Given the description of an element on the screen output the (x, y) to click on. 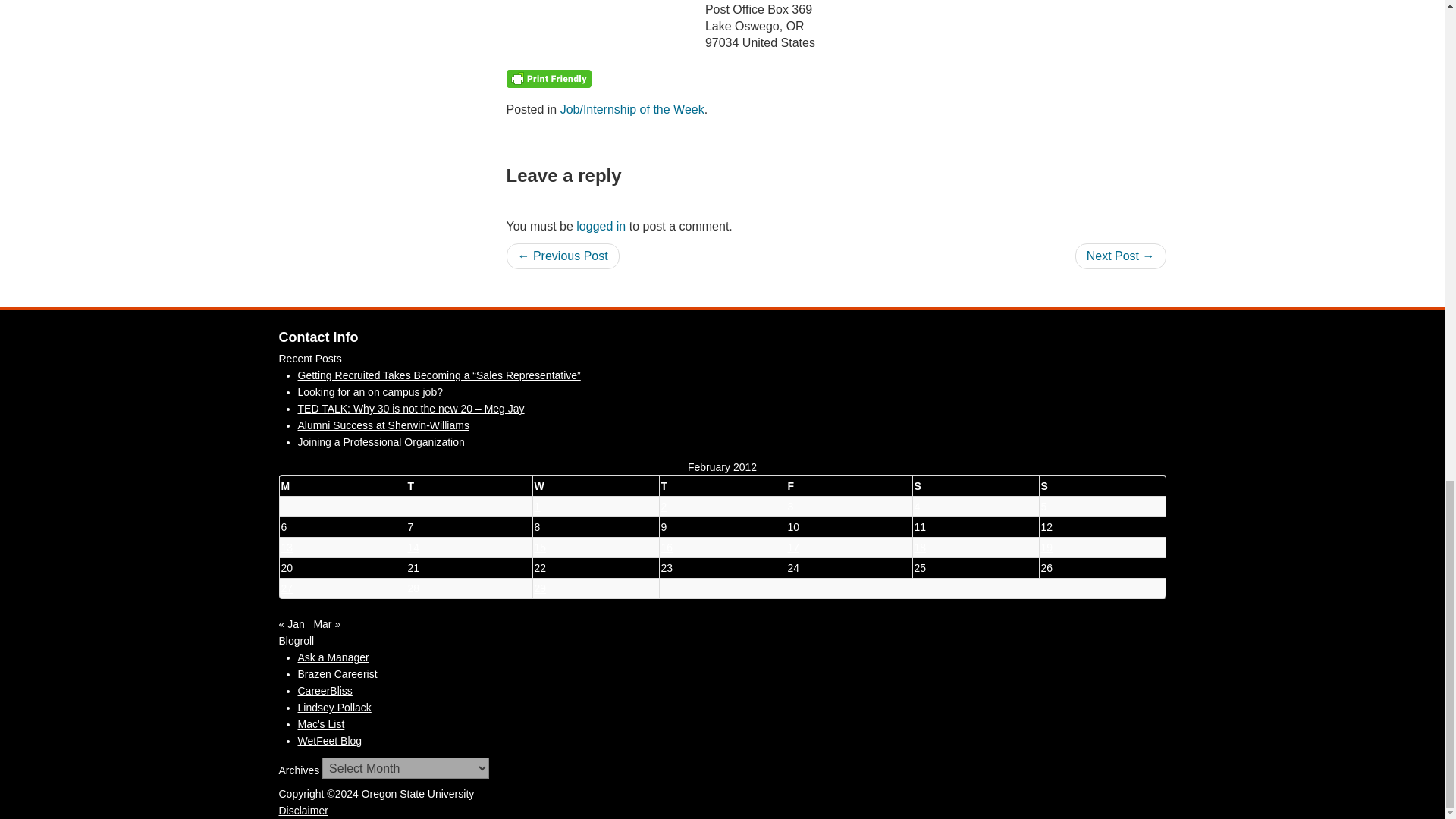
Alumni Success at Sherwin-Williams (382, 425)
Wednesday (595, 485)
Monday (342, 485)
Tuesday (467, 485)
Looking for an on campus job? (369, 391)
Joining a Professional Organization (380, 441)
logged in (601, 226)
Thursday (721, 485)
